Given the description of an element on the screen output the (x, y) to click on. 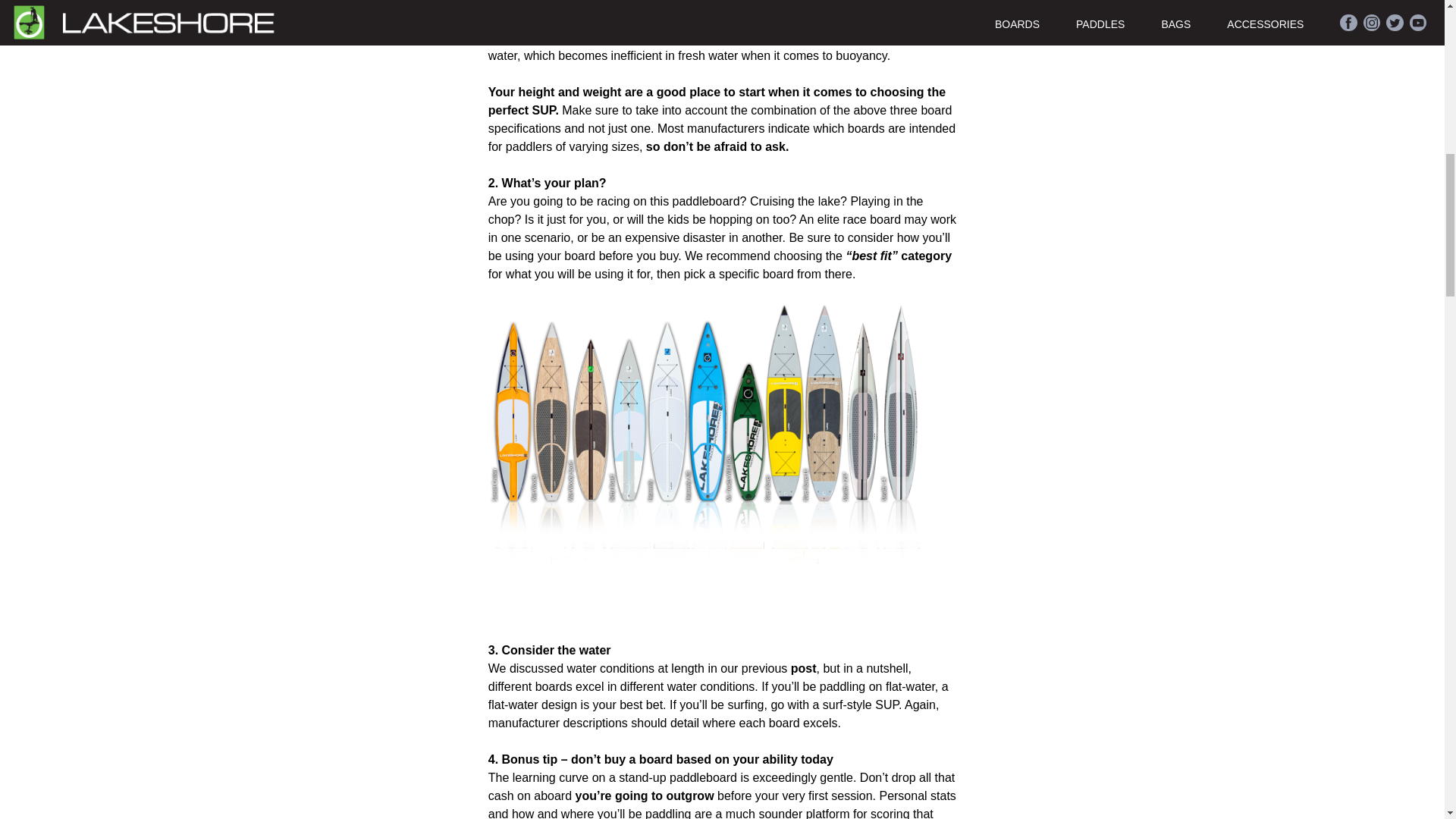
Choose Wisely (803, 667)
post (803, 667)
Beginner Board (644, 795)
Contact Form (717, 146)
